Given the description of an element on the screen output the (x, y) to click on. 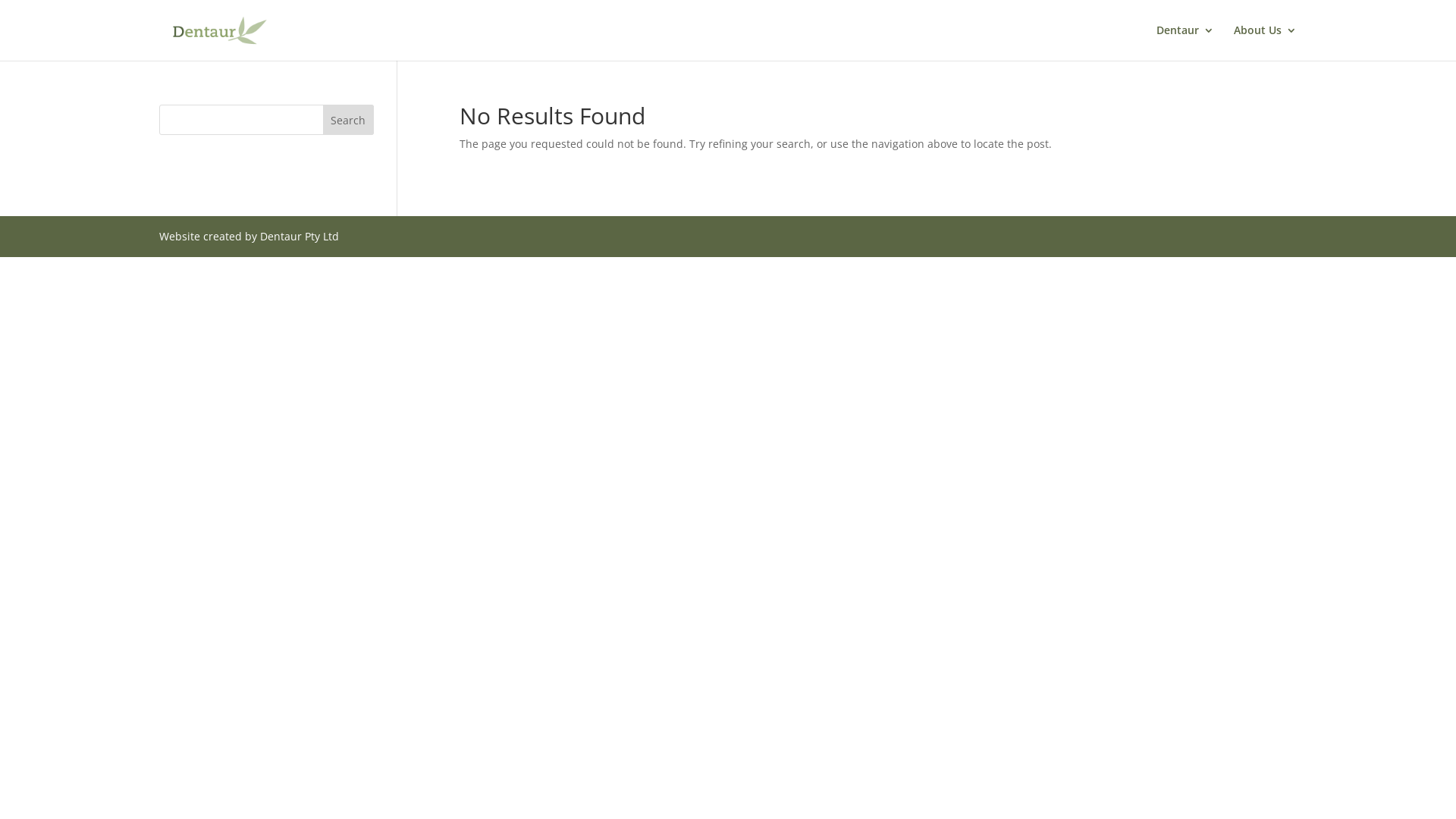
Dentaur Element type: text (1185, 42)
About Us Element type: text (1264, 42)
Search Element type: text (348, 119)
